Given the description of an element on the screen output the (x, y) to click on. 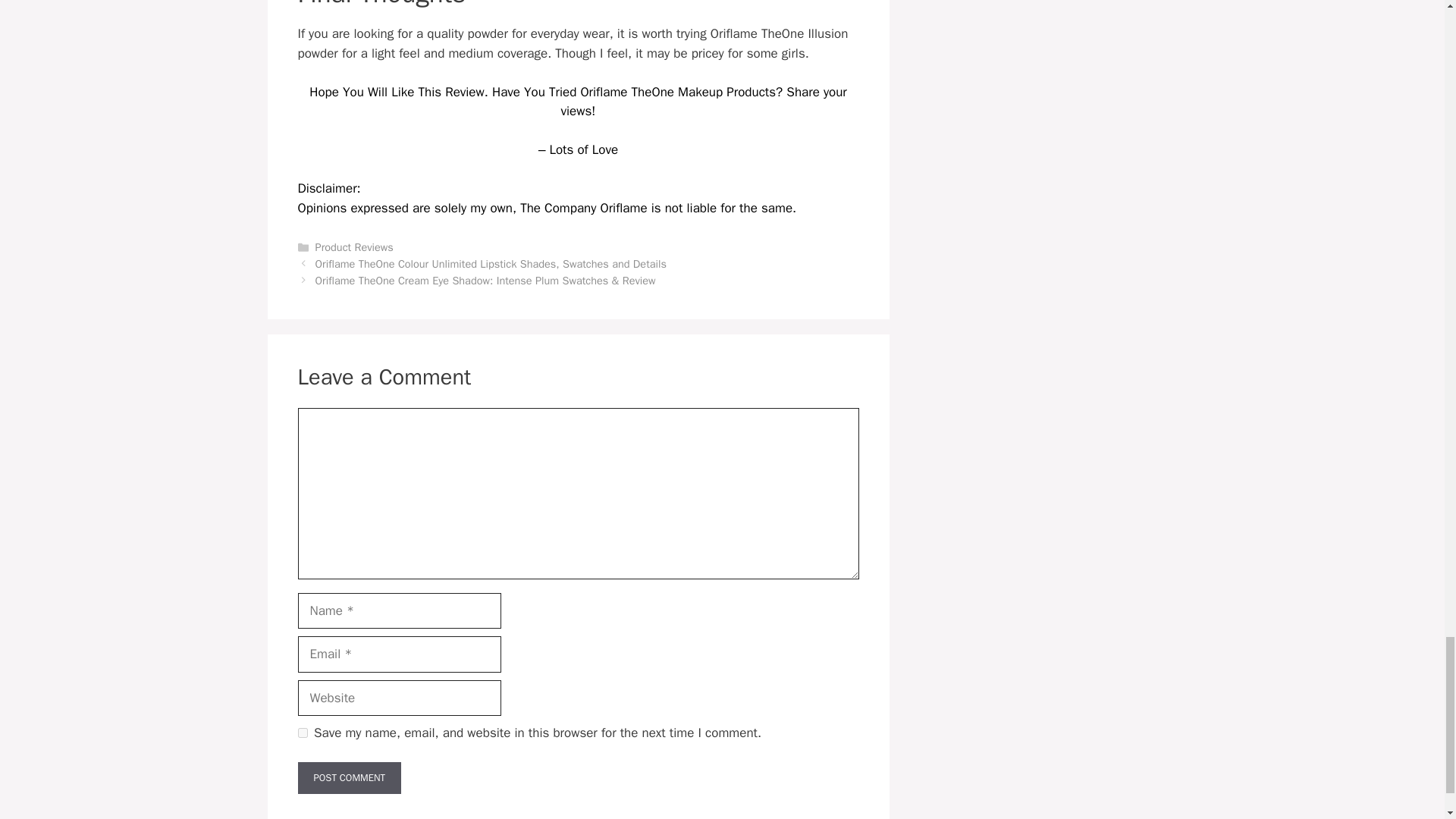
Post Comment (349, 777)
Post Comment (349, 777)
Product Reviews (354, 246)
yes (302, 732)
